Given the description of an element on the screen output the (x, y) to click on. 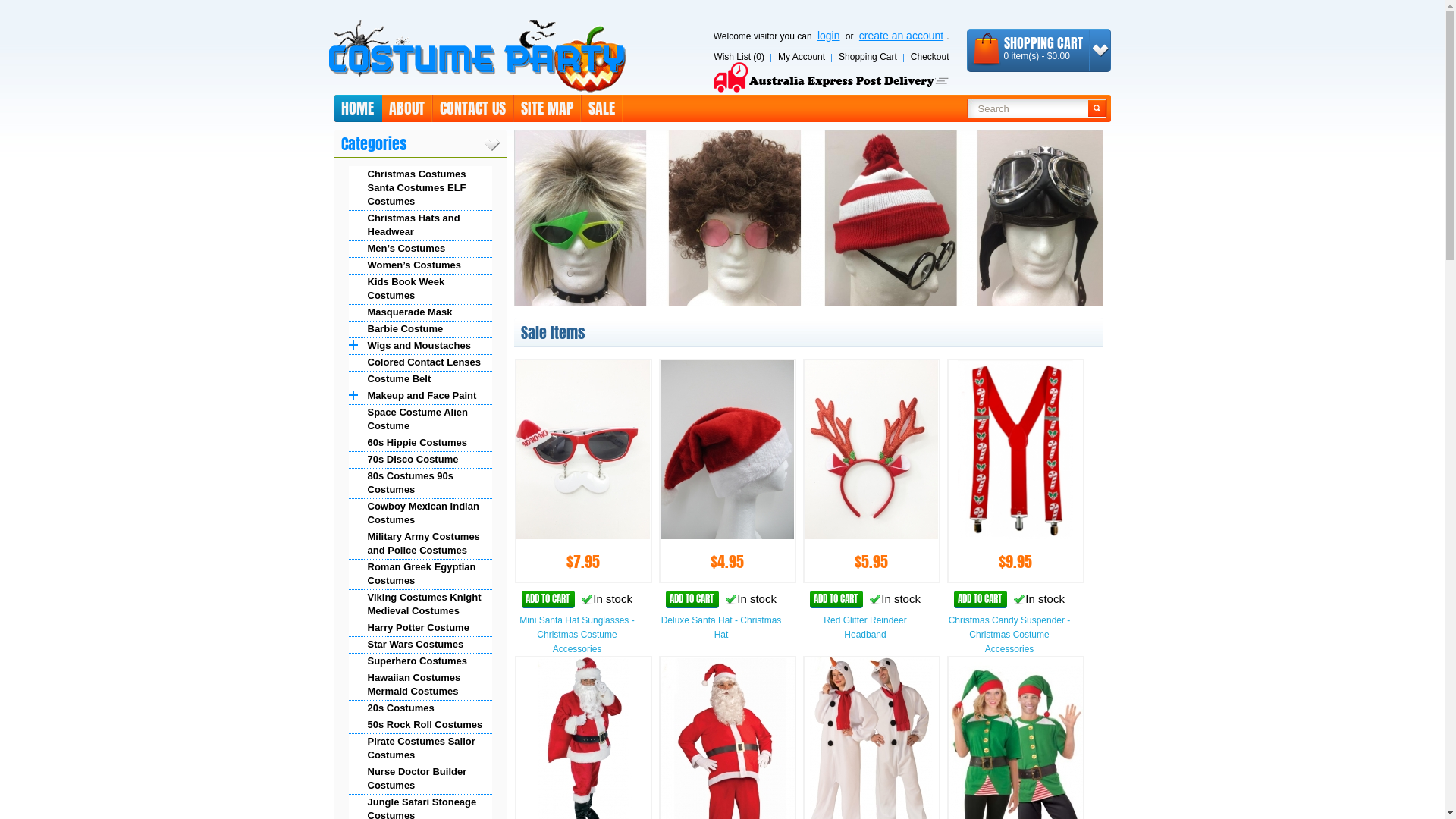
CONTACT US Element type: text (472, 108)
Space Costume Alien Costume Element type: text (420, 419)
Cowboy Mexican Indian Costumes Element type: text (420, 513)
Colored Contact Lenses Element type: text (420, 362)
Nurse Doctor Builder Costumes Element type: text (420, 778)
Star Wars Costumes Element type: text (420, 644)
Checkout Element type: text (929, 56)
Harry Potter Costume Element type: text (420, 627)
Pirate Costumes Sailor Costumes Element type: text (420, 748)
70s Disco Costume Element type: text (420, 459)
Deluxe Santa Hat - Christmas Hat Element type: text (721, 627)
ADD TO CART Element type: text (980, 599)
Wish List (0) Element type: text (738, 56)
Superhero Costumes Element type: text (420, 661)
80s Costumes 90s Costumes Element type: text (420, 482)
Military Army Costumes and Police Costumes Element type: text (420, 543)
Viking Costumes Knight Medieval Costumes Element type: text (420, 604)
50s Rock Roll Costumes Element type: text (420, 724)
Christmas Candy Suspender - Christmas Costume Accessories Element type: text (1009, 634)
Wigs and Moustaches Element type: text (420, 345)
Search Element type: text (1027, 108)
ADD TO CART Element type: text (547, 599)
ABOUT Element type: text (407, 108)
Kids Book Week Costumes Element type: text (420, 288)
SITE MAP Element type: text (547, 108)
Shopping Cart Element type: text (867, 56)
HOME Element type: text (357, 108)
create an account Element type: text (901, 35)
Masquerade Mask Element type: text (420, 312)
a111 Element type: hover (812, 217)
Barbie Costume Element type: text (420, 328)
Red Glitter Reindeer Headband Element type: text (864, 627)
login Element type: text (828, 35)
Roman Greek Egyptian Costumes Element type: text (420, 573)
20s Costumes Element type: text (420, 708)
Christmas Hats and Headwear Element type: text (420, 224)
ADD TO CART Element type: text (691, 599)
My Account Element type: text (801, 56)
Hawaiian Costumes Mermaid Costumes Element type: text (420, 684)
Mini Santa Hat Sunglasses - Christmas Costume Accessories Element type: text (576, 634)
Costume Belt Element type: text (420, 378)
Costume Sydney Element type: hover (475, 55)
60s Hippie Costumes Element type: text (420, 442)
SALE Element type: text (601, 108)
ADD TO CART Element type: text (835, 599)
Makeup and Face Paint Element type: text (420, 395)
Christmas Costumes Santa Costumes ELF Costumes Element type: text (420, 187)
